Given the description of an element on the screen output the (x, y) to click on. 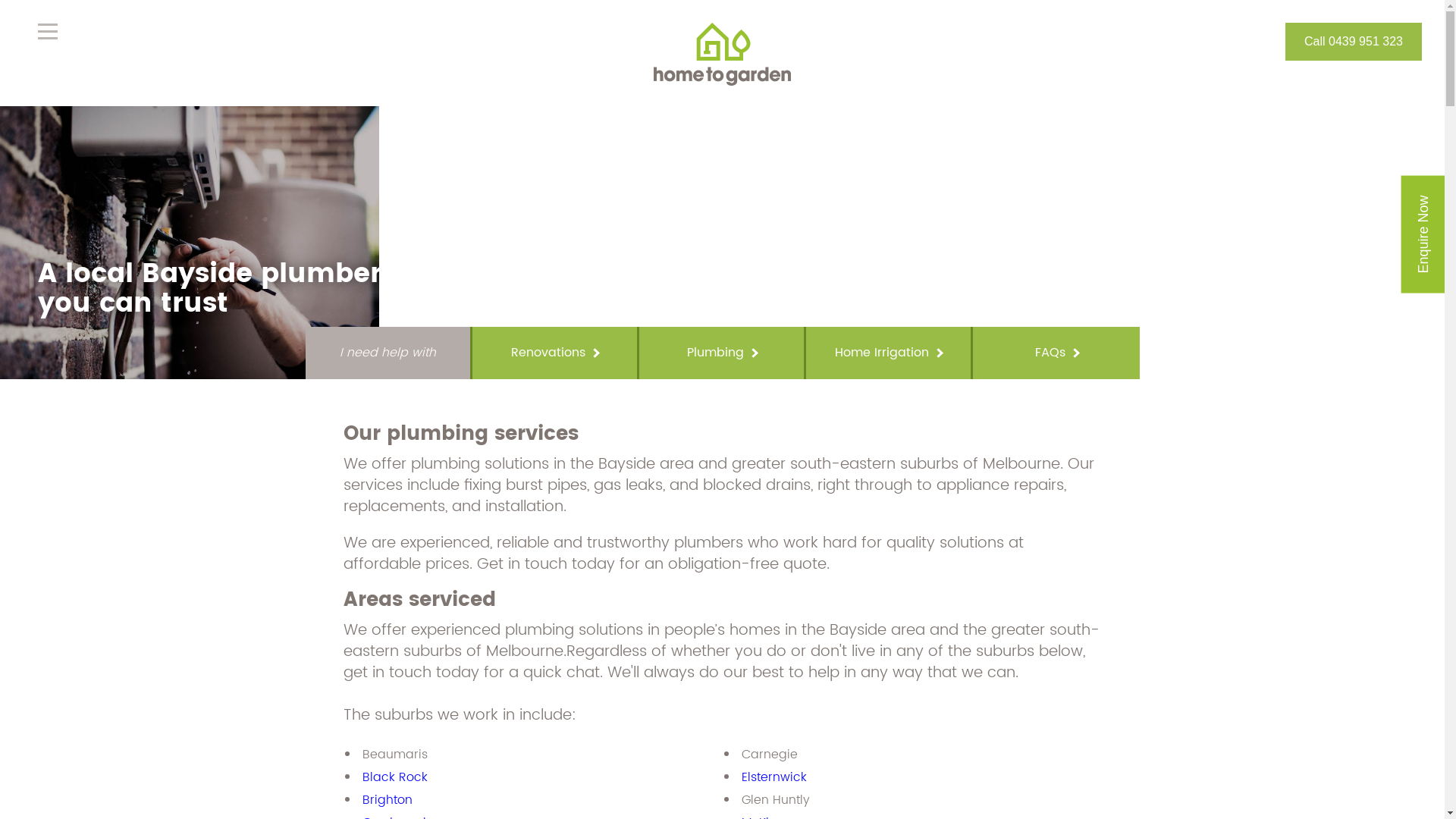
Call 0439 951 323 Element type: text (1353, 40)
FAQs Element type: text (1056, 352)
Elsternwick Element type: text (773, 777)
Black Rock Element type: text (394, 777)
Plumbing Element type: text (721, 352)
Brighton Element type: text (387, 799)
Renovations Element type: text (555, 352)
Home Irrigation Element type: text (888, 352)
